Given the description of an element on the screen output the (x, y) to click on. 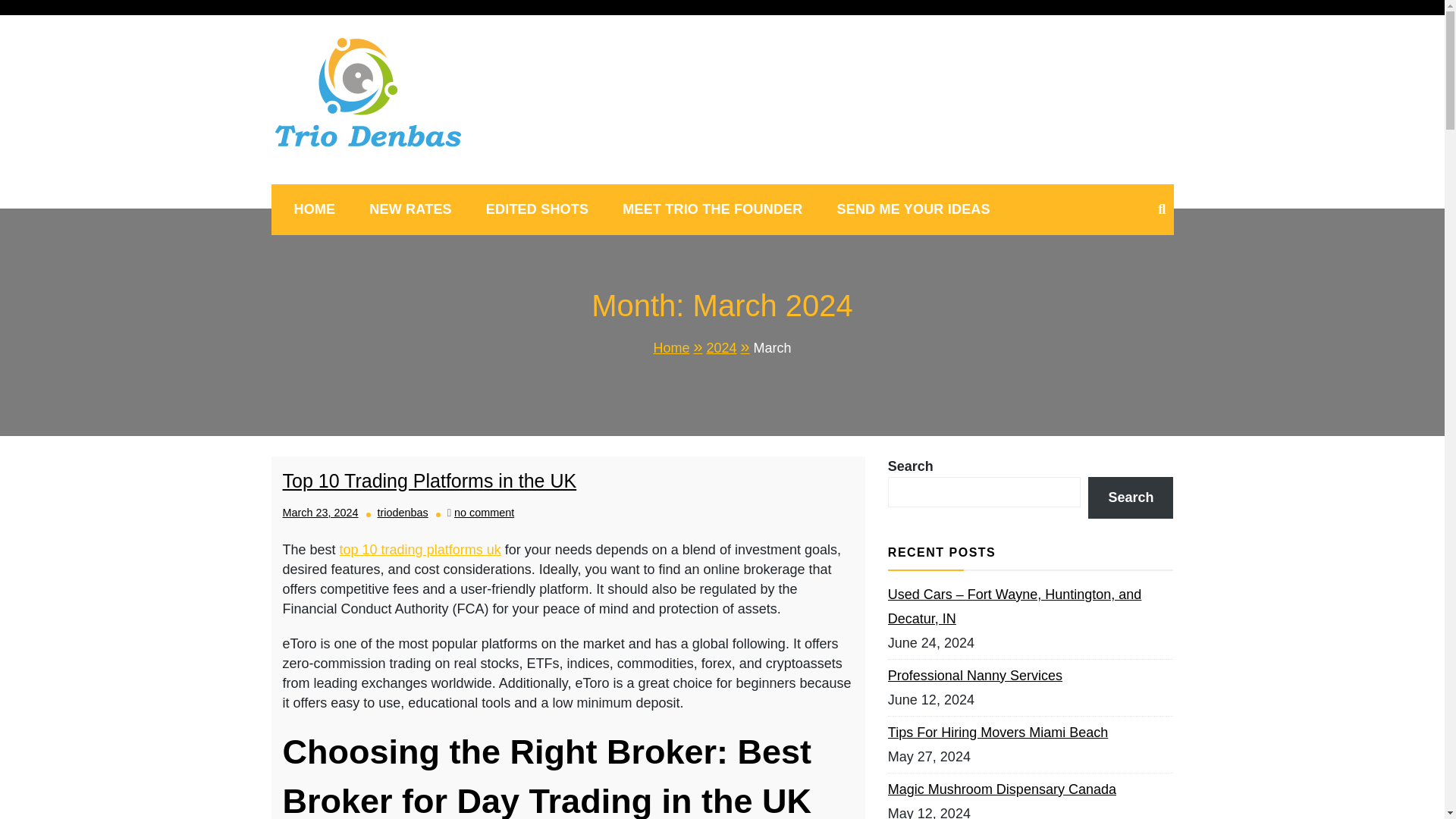
triodenbas (402, 512)
HOME (314, 209)
Home (679, 347)
SEND ME YOUR IDEAS (912, 209)
top 10 trading platforms uk (419, 549)
NEW RATES (483, 512)
2024 (409, 209)
EDITED SHOTS (729, 347)
MEET TRIO THE FOUNDER (537, 209)
Trio Denbas (711, 209)
March 23, 2024 (411, 194)
Top 10 Trading Platforms in the UK (320, 512)
